Given the description of an element on the screen output the (x, y) to click on. 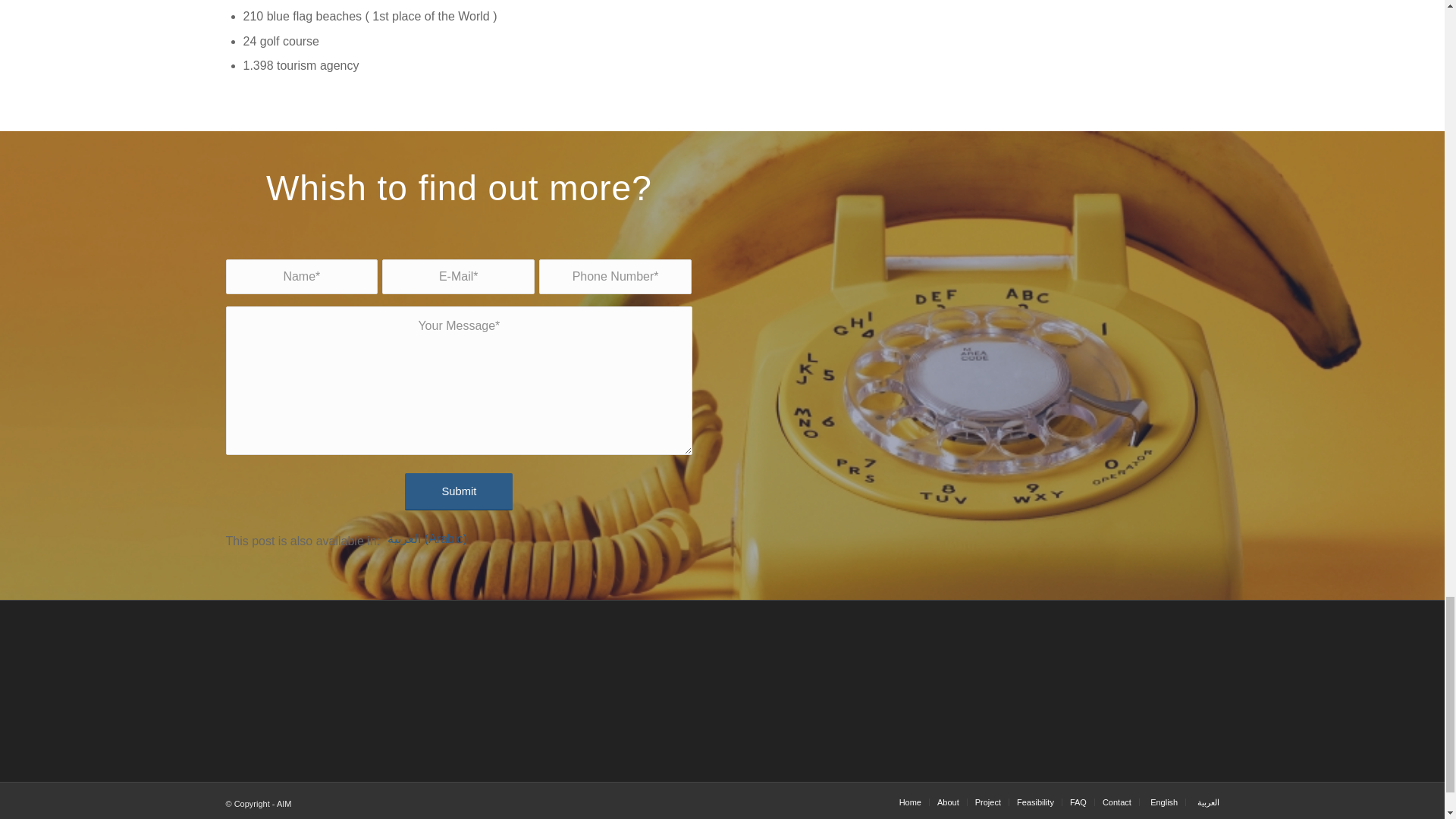
Home (910, 801)
Project (988, 801)
Feasibility (1035, 801)
About (948, 801)
FAQ (1078, 801)
Submit (458, 491)
Submit (458, 491)
Contact (1116, 801)
English (1162, 801)
